Given the description of an element on the screen output the (x, y) to click on. 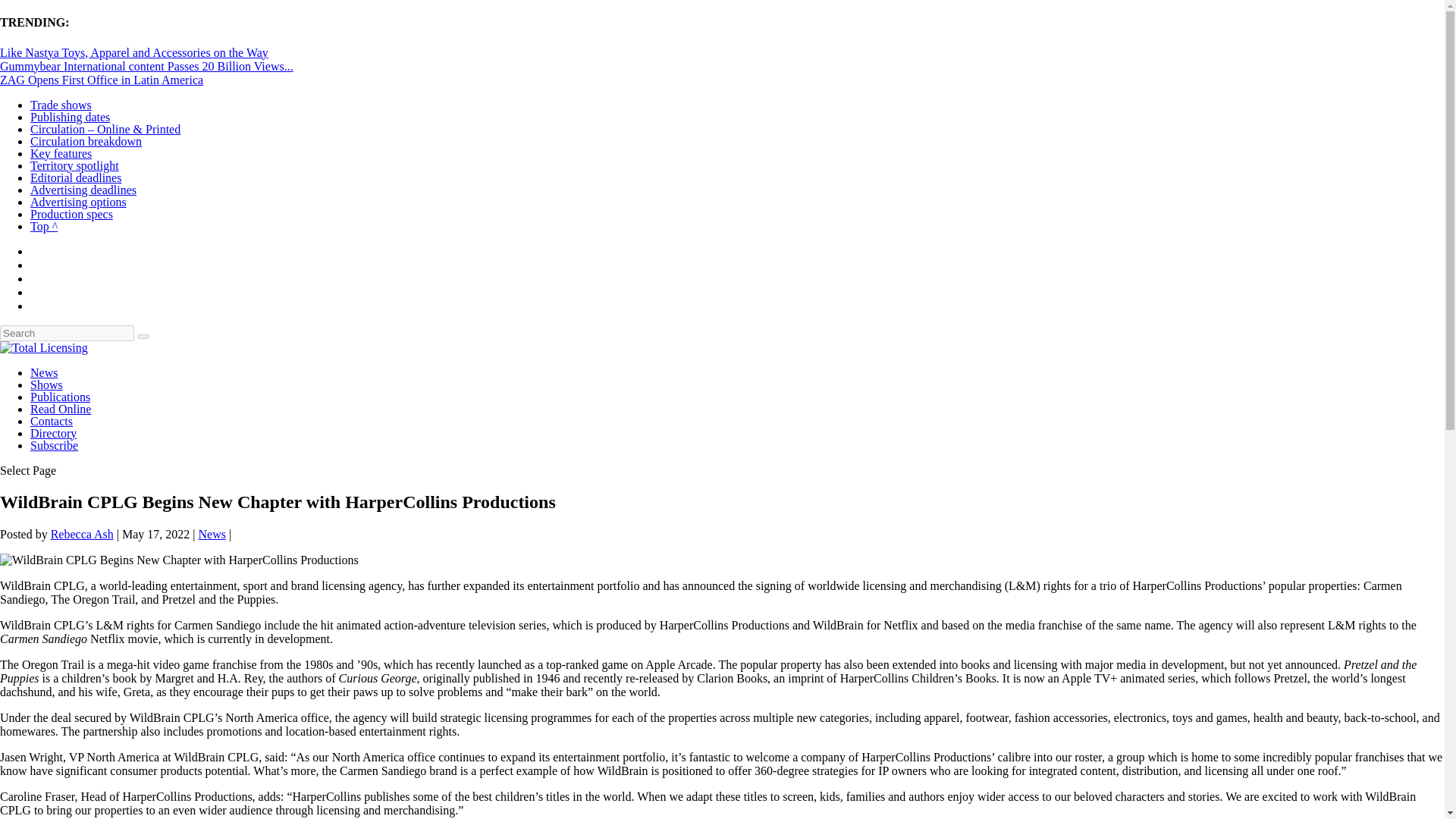
News (44, 372)
Like Nastya Toys, Apparel and Accessories on the Way (133, 51)
Key features (60, 153)
ZAG Opens First Office in Latin America (101, 79)
Gummybear International content Passes 20 Billion Views... (147, 65)
Publications (60, 396)
Territory spotlight (74, 164)
Circulation breakdown (85, 141)
Shows (46, 384)
Search for: (66, 333)
